Given the description of an element on the screen output the (x, y) to click on. 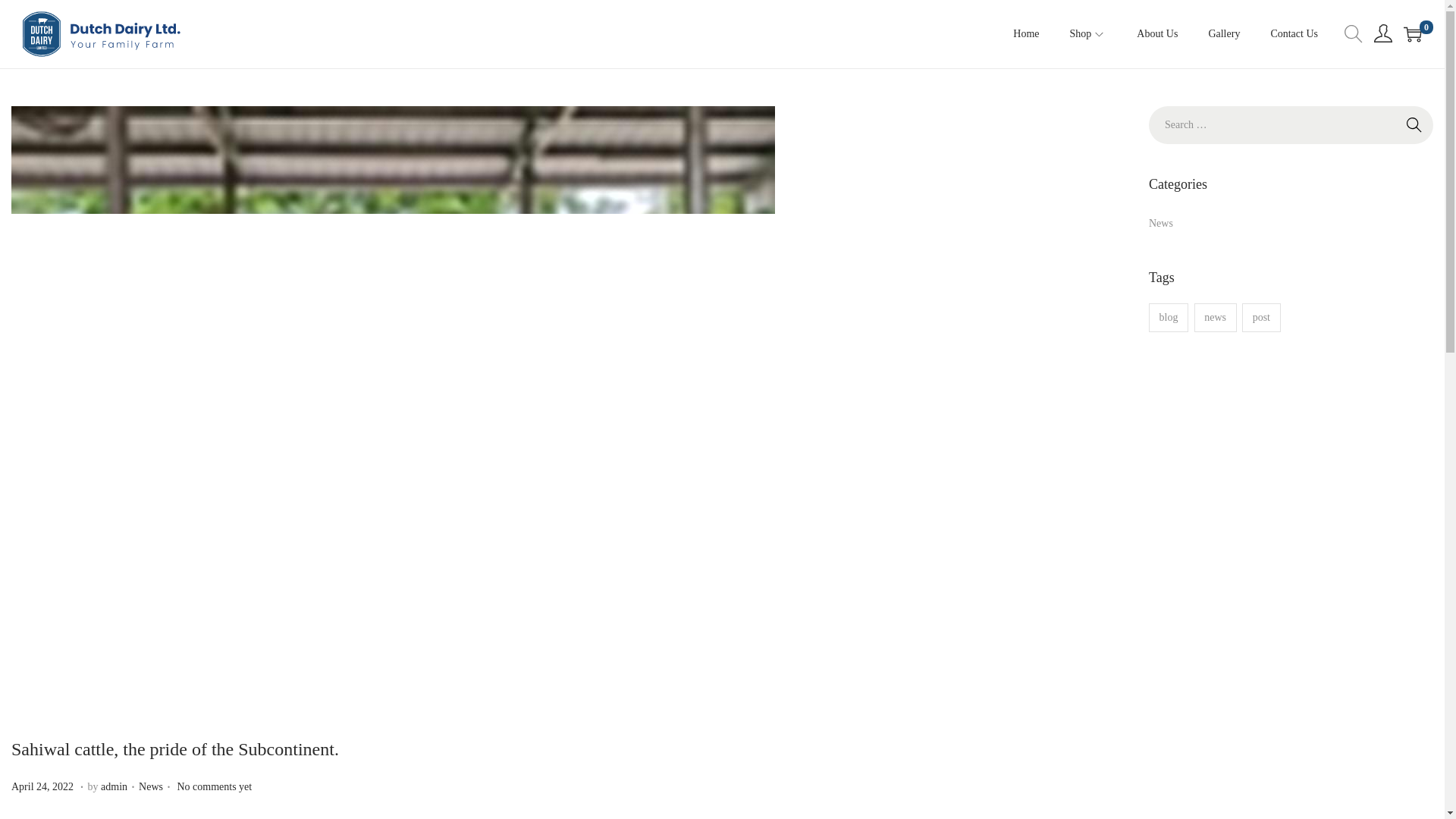
Search (1413, 125)
No comments yet (213, 786)
news (1214, 317)
admin (114, 786)
Search (1413, 125)
blog (1168, 317)
post (44, 786)
Sahiwal cattle, the pride of the Subcontinent. (1261, 317)
0 (175, 749)
